Given the description of an element on the screen output the (x, y) to click on. 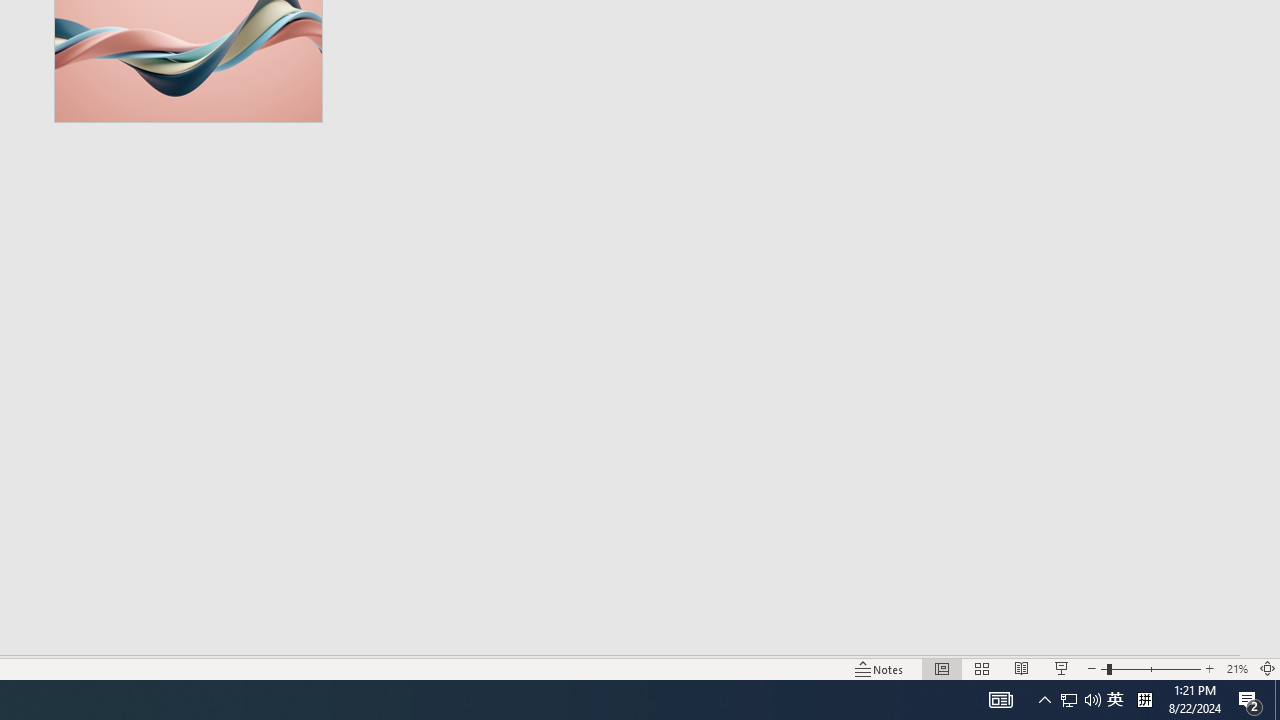
Zoom 21% (1236, 668)
